Given the description of an element on the screen output the (x, y) to click on. 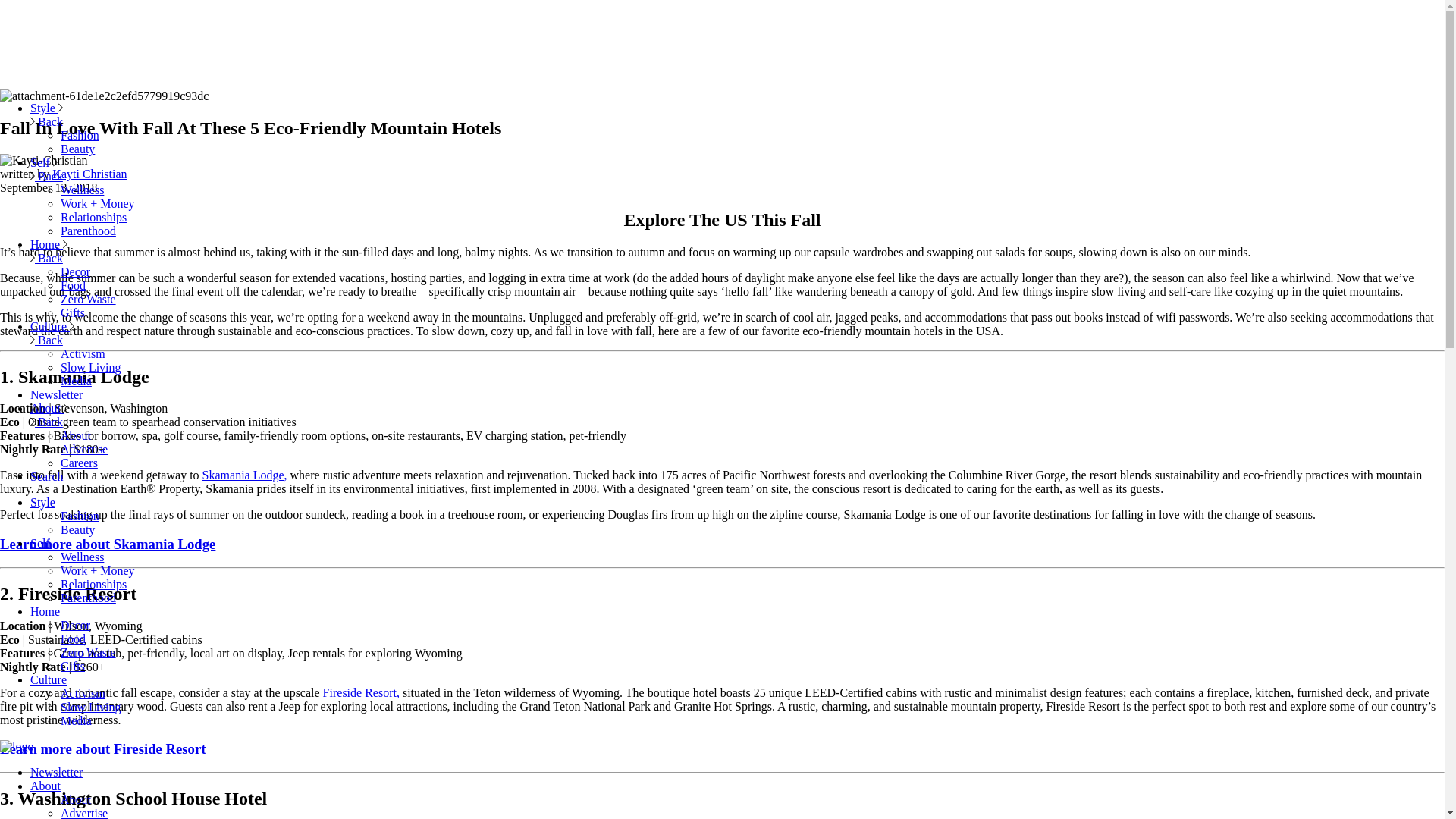
Food (73, 638)
Relationships (93, 584)
Newsletter (56, 394)
Beauty (77, 148)
Culture (52, 326)
Back (46, 257)
Decor (75, 271)
About (75, 435)
Fashion (80, 515)
Wellness (82, 556)
Homepage (16, 746)
Wellness (82, 189)
Search (47, 476)
Home (48, 244)
Advertise (84, 449)
